Given the description of an element on the screen output the (x, y) to click on. 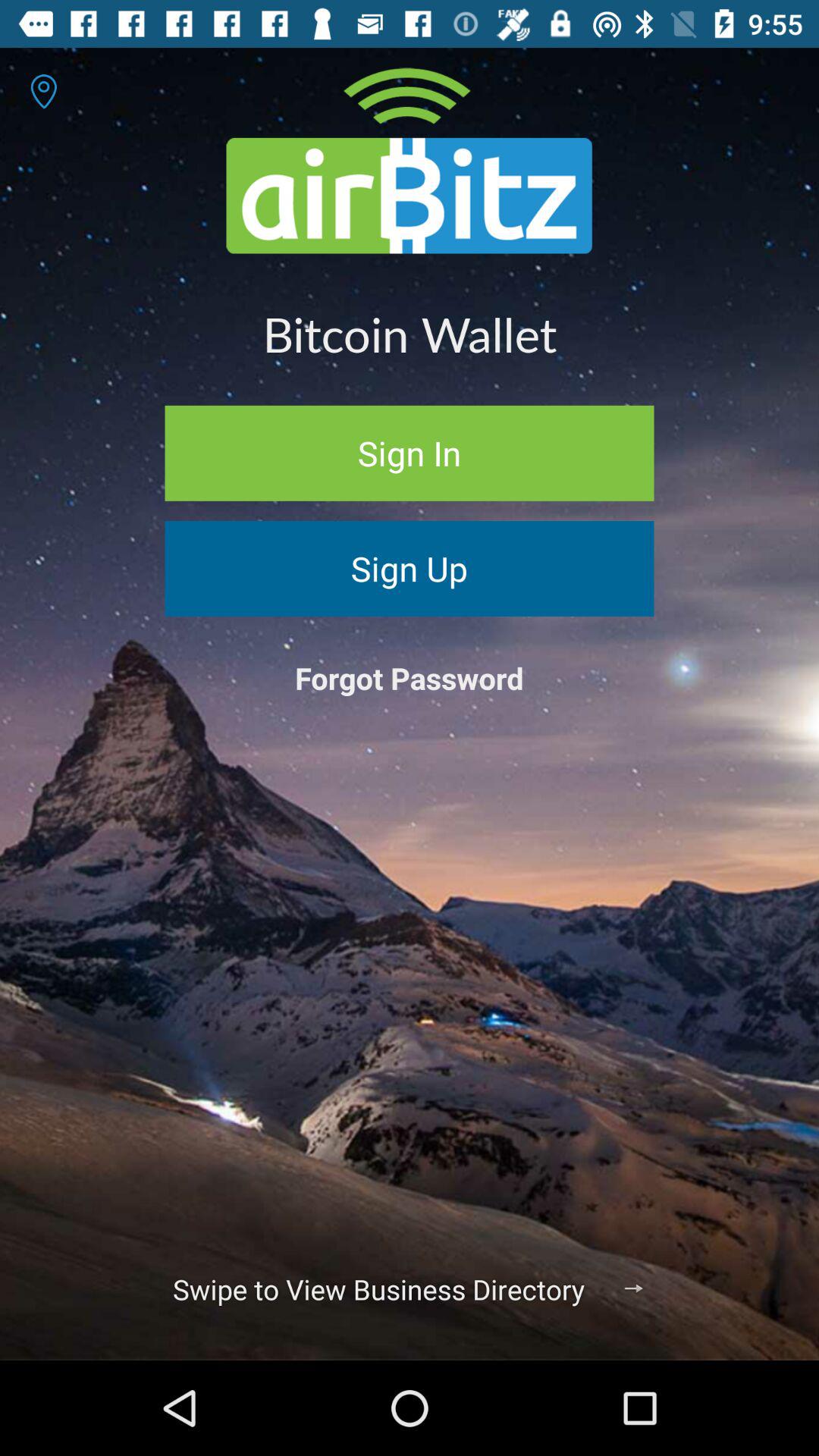
turn off icon above bitcoin wallet icon (43, 91)
